Given the description of an element on the screen output the (x, y) to click on. 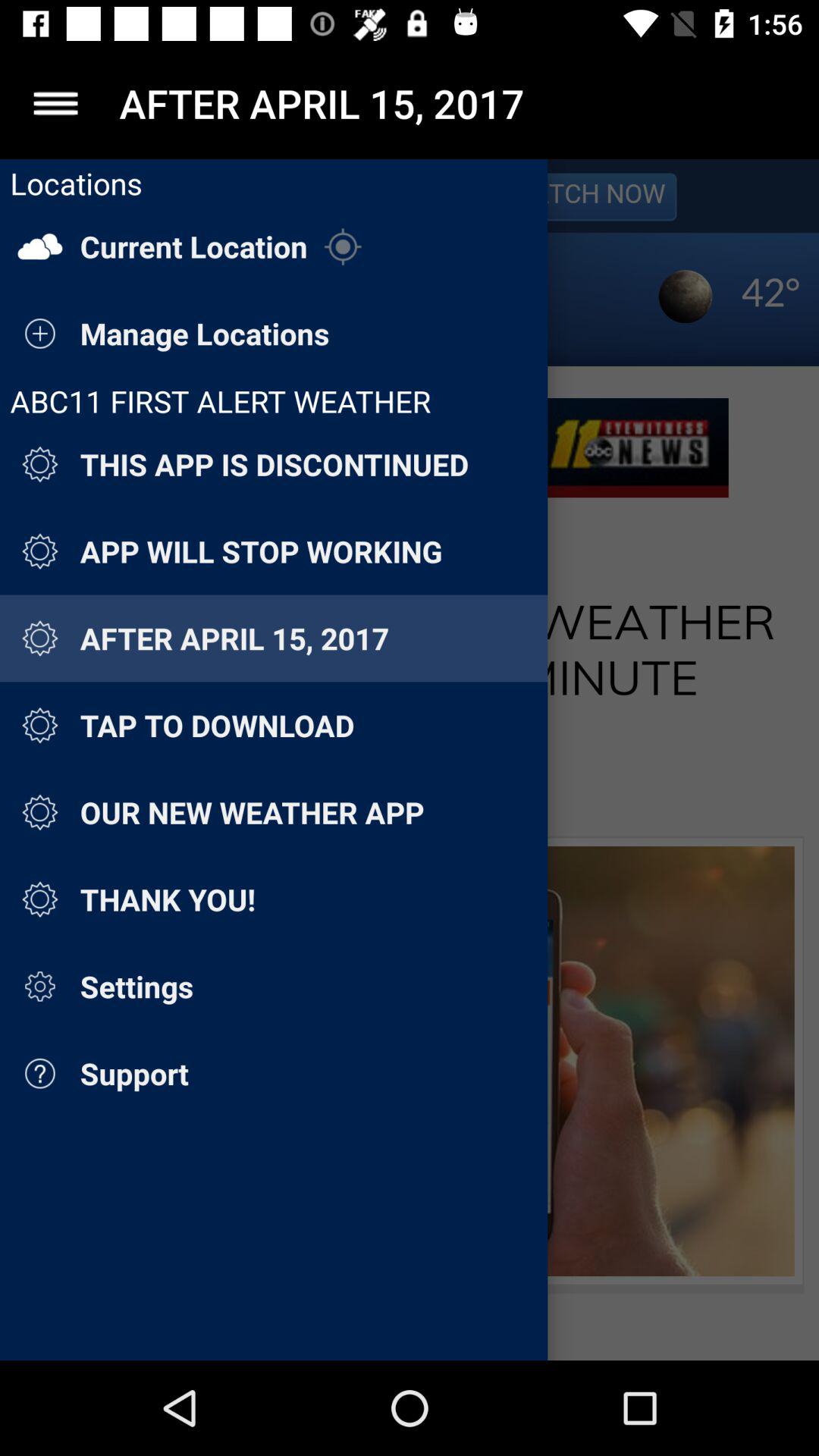
loading button (409, 759)
